Given the description of an element on the screen output the (x, y) to click on. 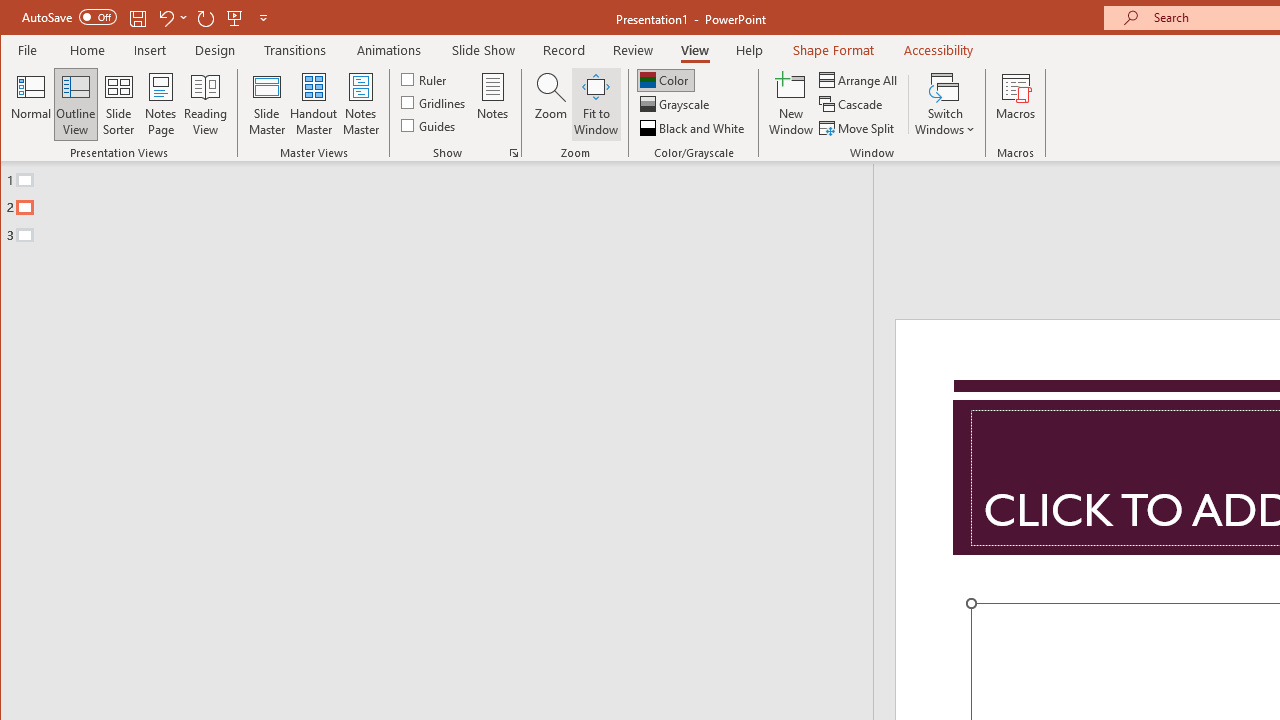
Cascade (852, 103)
New Window (791, 104)
Zoom... (550, 104)
Switch Windows (944, 104)
Black and White (694, 127)
Handout Master (314, 104)
Notes (493, 104)
Notes Page (160, 104)
